Given the description of an element on the screen output the (x, y) to click on. 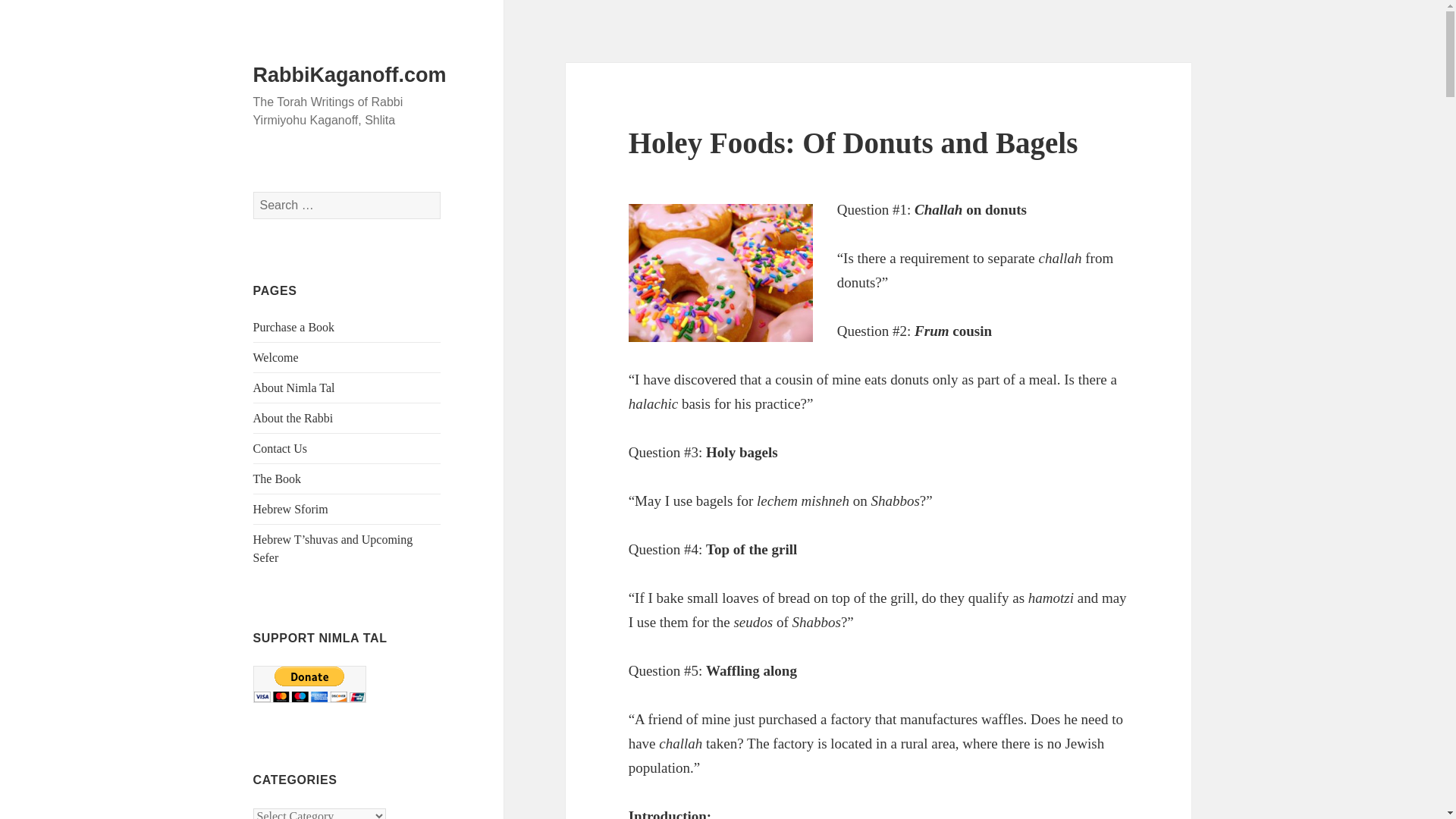
Contact Us (280, 448)
Hebrew Sforim (291, 508)
About the Rabbi (293, 418)
About Nimla Tal (293, 387)
Welcome (275, 357)
RabbiKaganoff.com (349, 74)
The Book (277, 478)
Purchase a Book (293, 327)
